Given the description of an element on the screen output the (x, y) to click on. 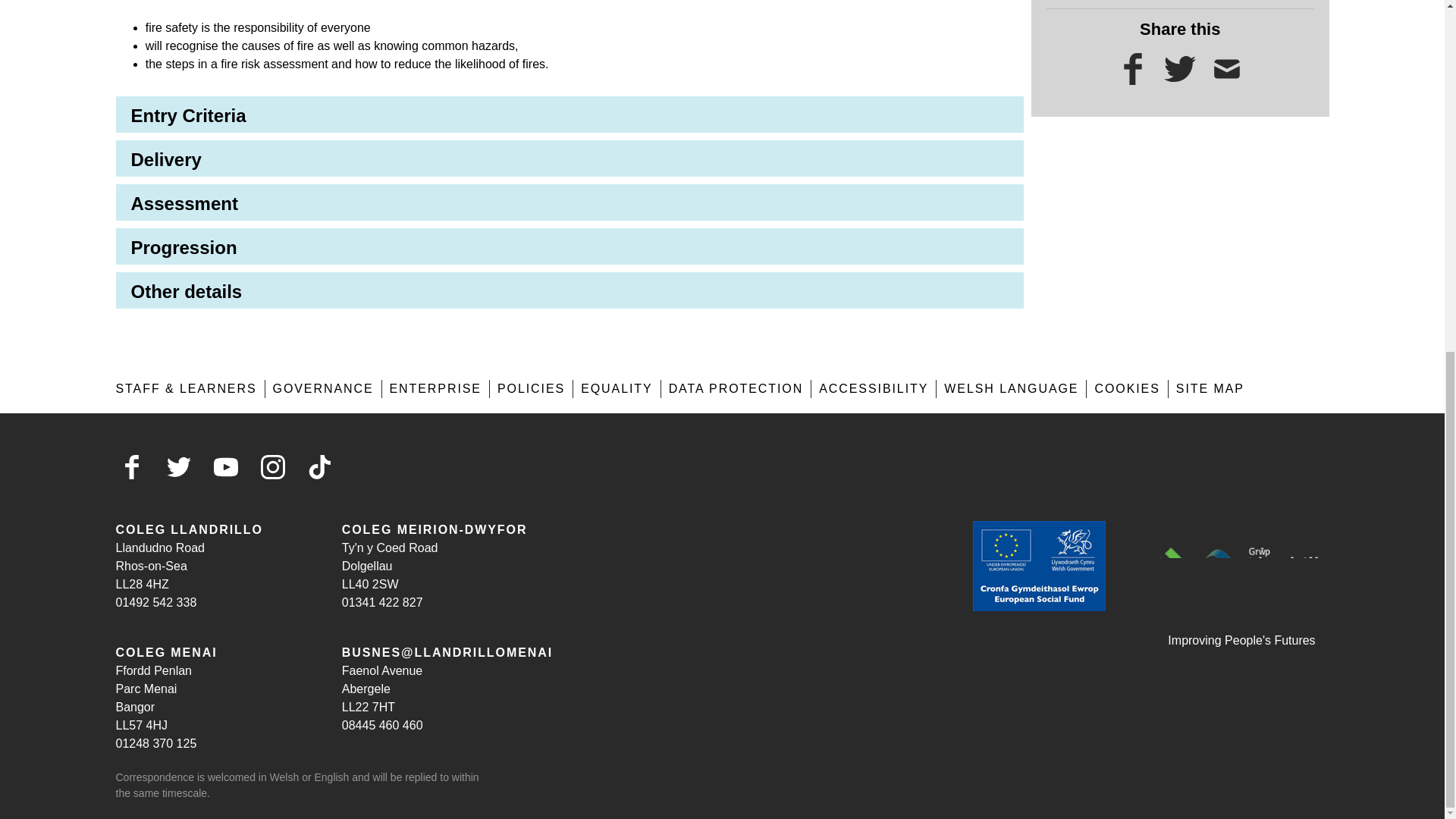
GOVERNANCE (323, 388)
POLICIES (530, 388)
ACCESSIBILITY (873, 388)
EQUALITY (616, 388)
DATA PROTECTION (735, 388)
WELSH LANGUAGE (1010, 388)
ENTERPRISE (435, 388)
